Given the description of an element on the screen output the (x, y) to click on. 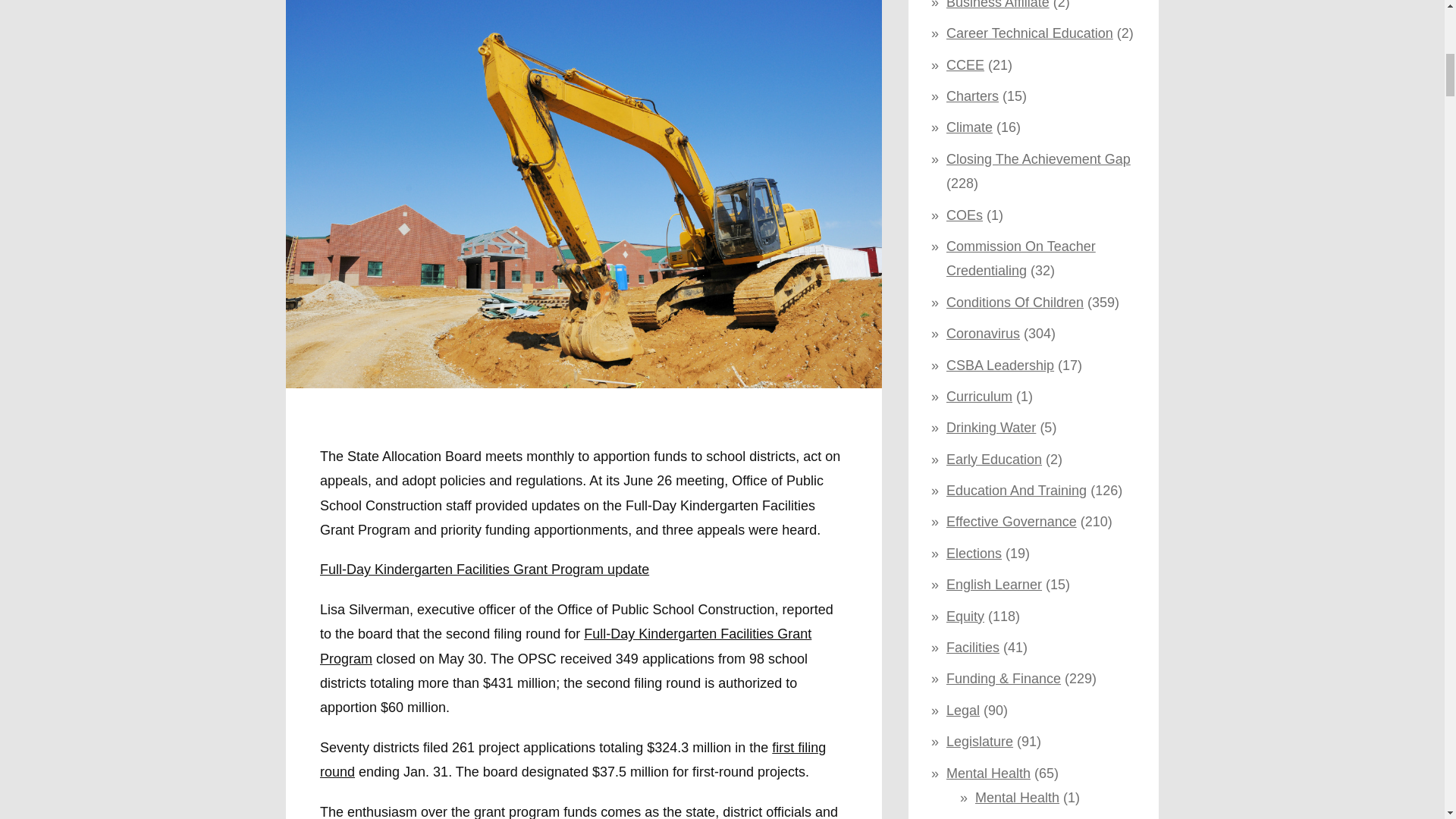
first filing round (572, 759)
Charters (972, 96)
Business Affiliate (997, 4)
Career Technical Education (1029, 32)
CCEE (965, 64)
Full-Day Kindergarten Facilities Grant Program (565, 645)
Climate (969, 127)
